Given the description of an element on the screen output the (x, y) to click on. 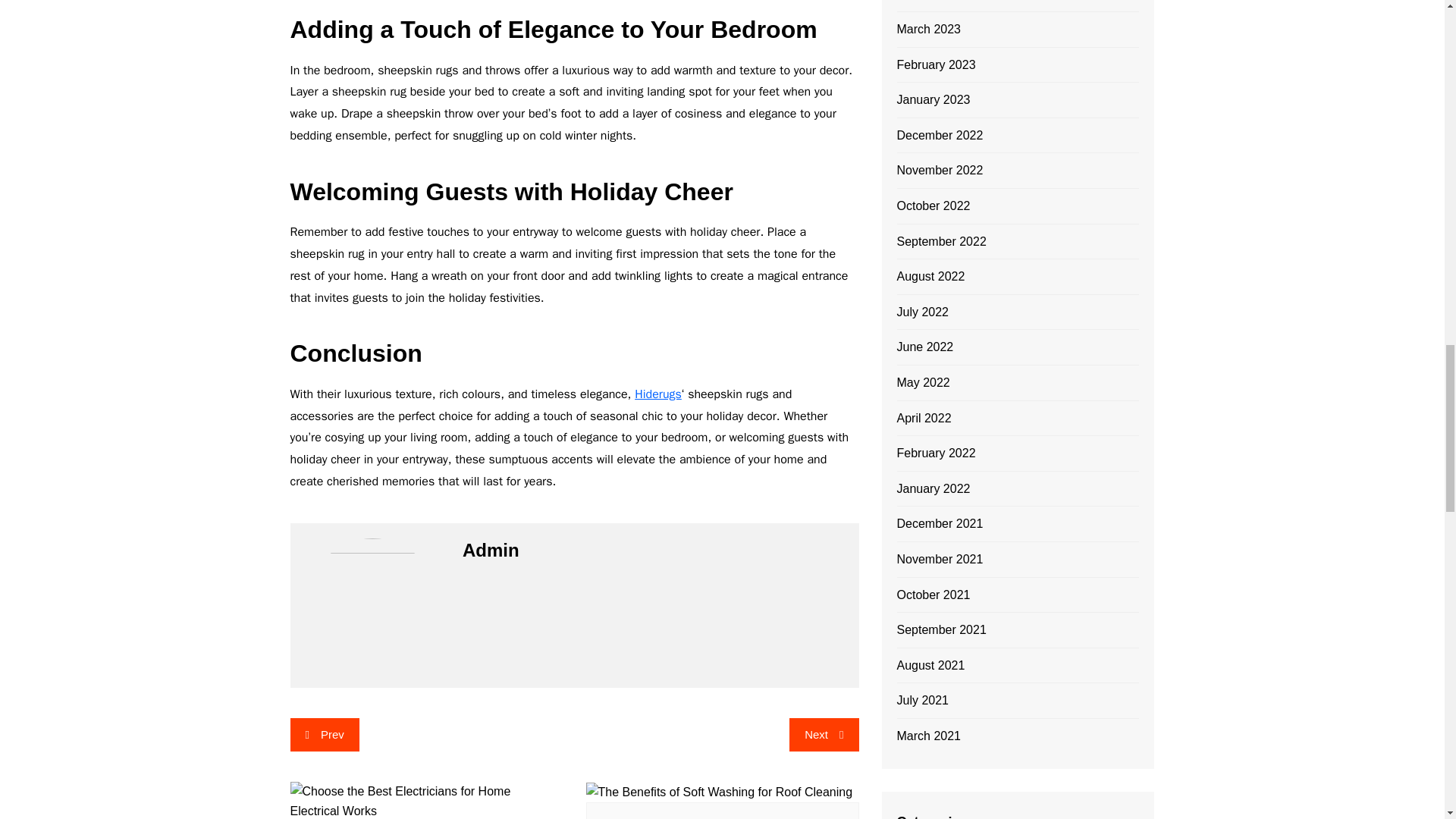
Next (824, 734)
Prev (323, 734)
Hiderugs (657, 394)
